Given the description of an element on the screen output the (x, y) to click on. 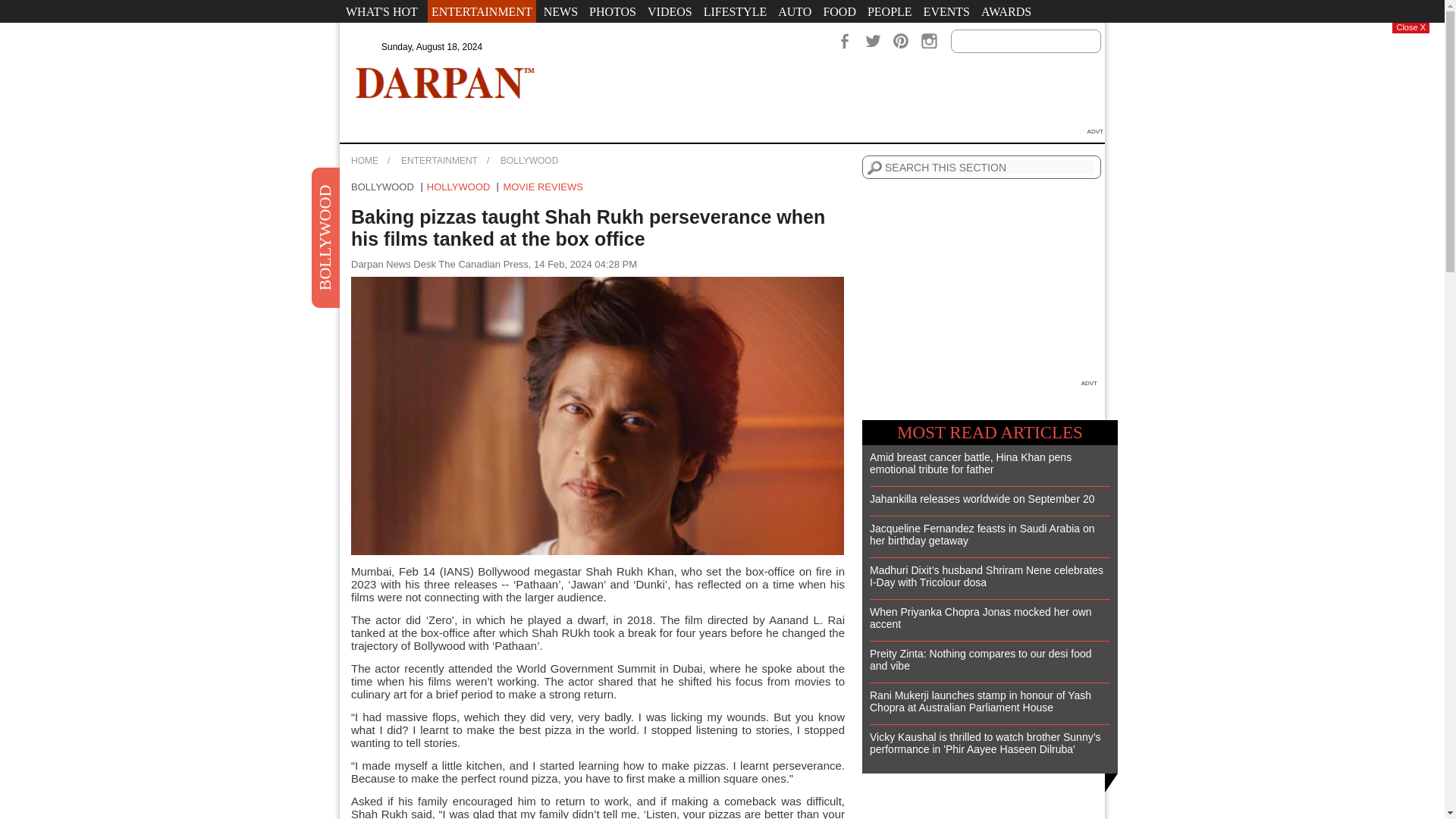
BOLLYWOOD (381, 186)
Auto (794, 11)
Food (839, 11)
FOOD (839, 11)
Entertainment (481, 11)
DARPAN PUBLICATION LTD (445, 82)
ENTERTAINMENT (481, 11)
Magazine (469, 33)
People (889, 11)
ENTERTAINMENT (439, 160)
